Given the description of an element on the screen output the (x, y) to click on. 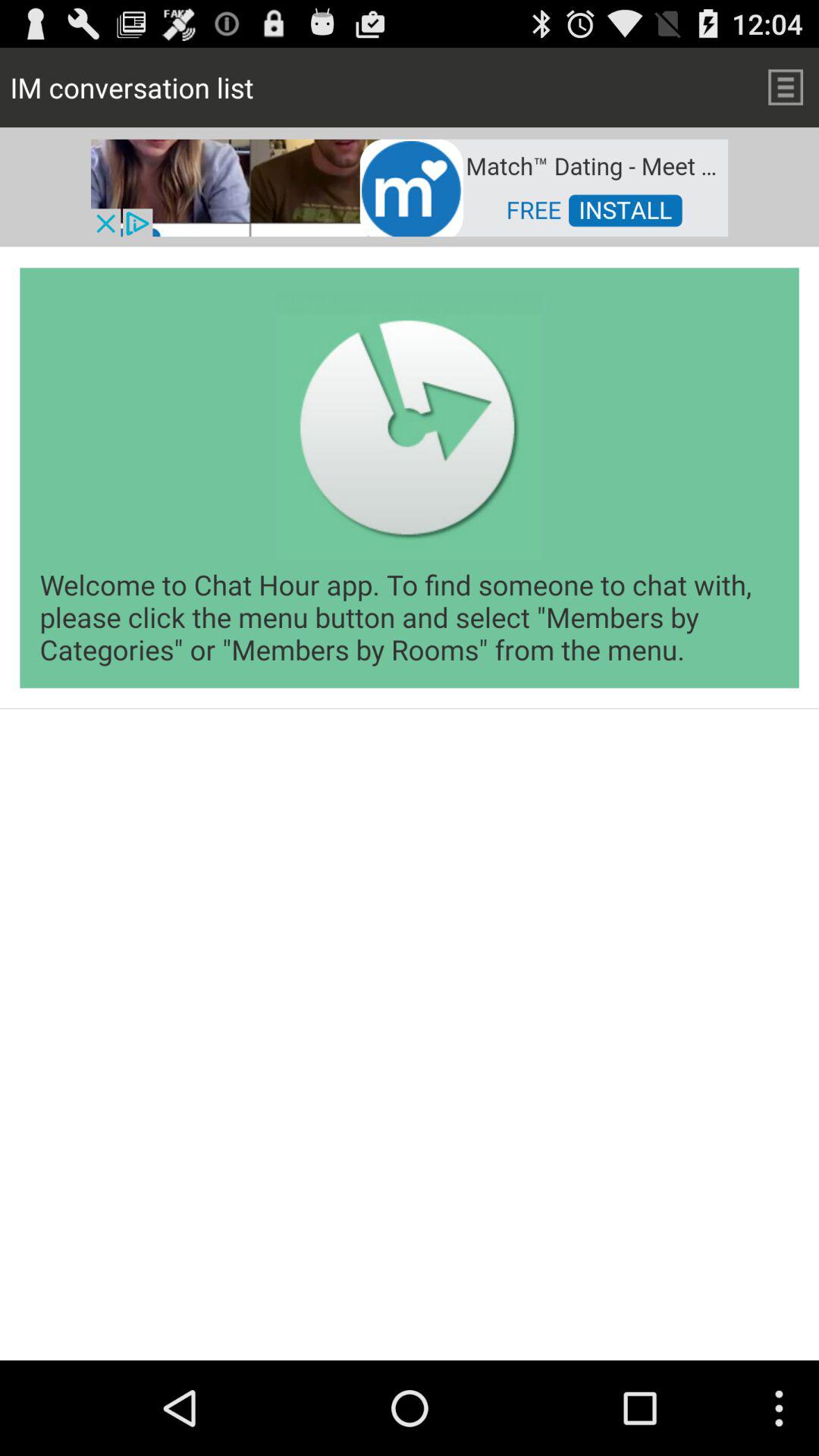
click for options (785, 87)
